Given the description of an element on the screen output the (x, y) to click on. 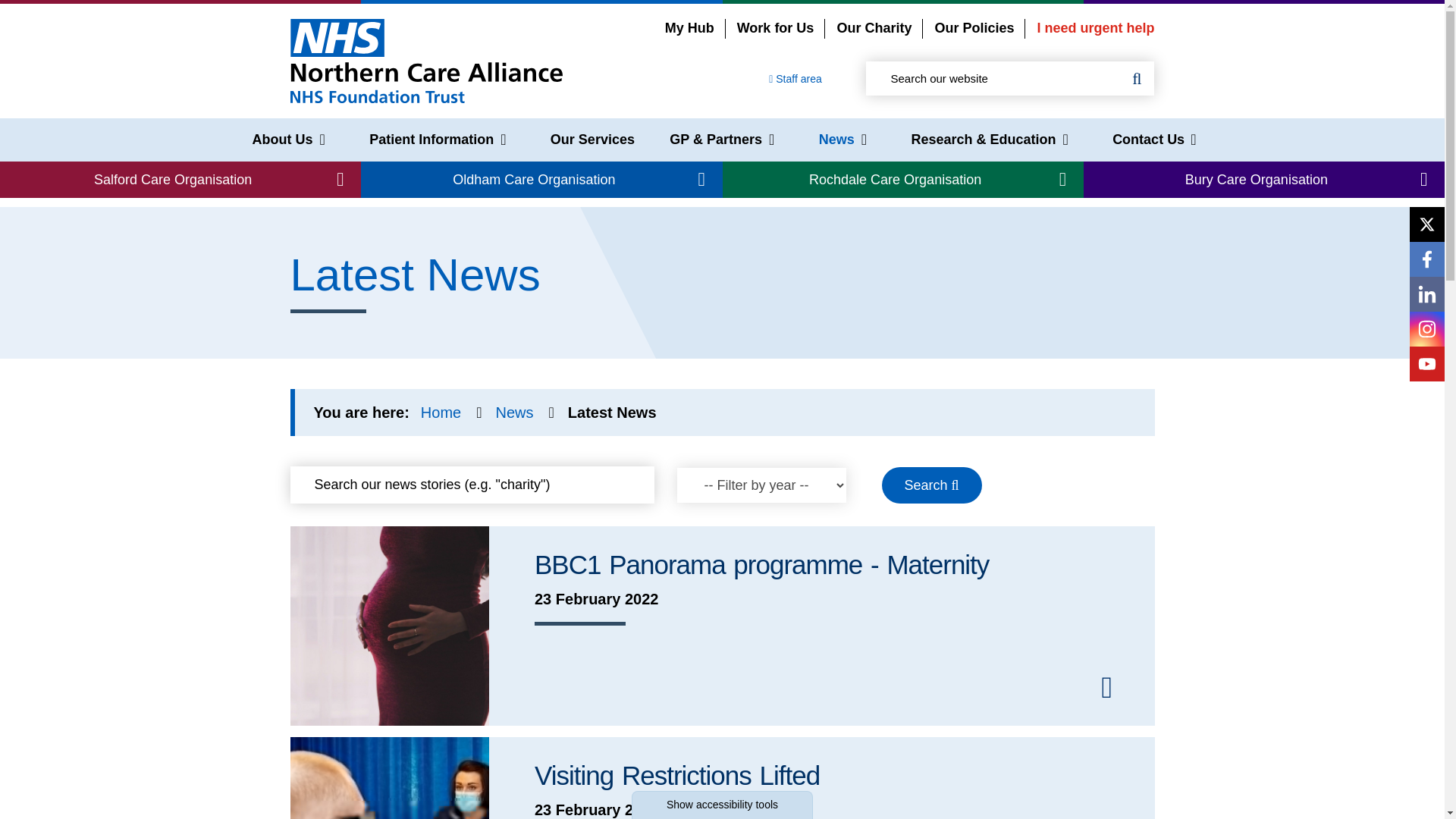
Staff area (794, 78)
Our Policies (973, 28)
About Us (288, 139)
I need urgent help (1095, 28)
Search this website (1136, 78)
My Hub (689, 28)
Our Charity (873, 28)
Work for Us (774, 28)
Log in to your staff account (794, 78)
